Given the description of an element on the screen output the (x, y) to click on. 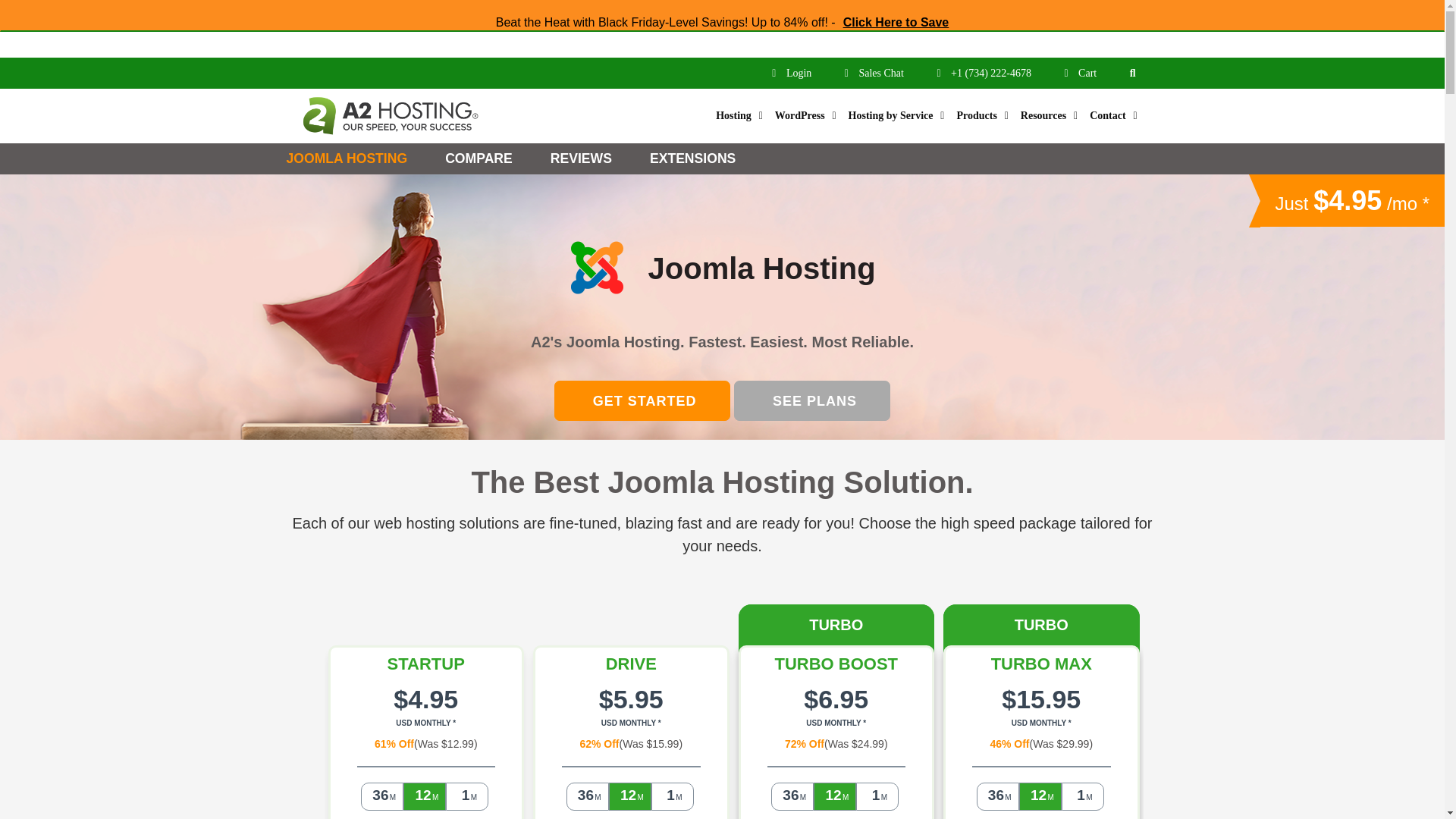
Login (792, 72)
Search on A2hosting (1132, 72)
Click Here to Save (896, 21)
Sales Chat (875, 72)
My Cart (1081, 72)
Login (792, 72)
Cart (1081, 72)
Chat (875, 72)
